Given the description of an element on the screen output the (x, y) to click on. 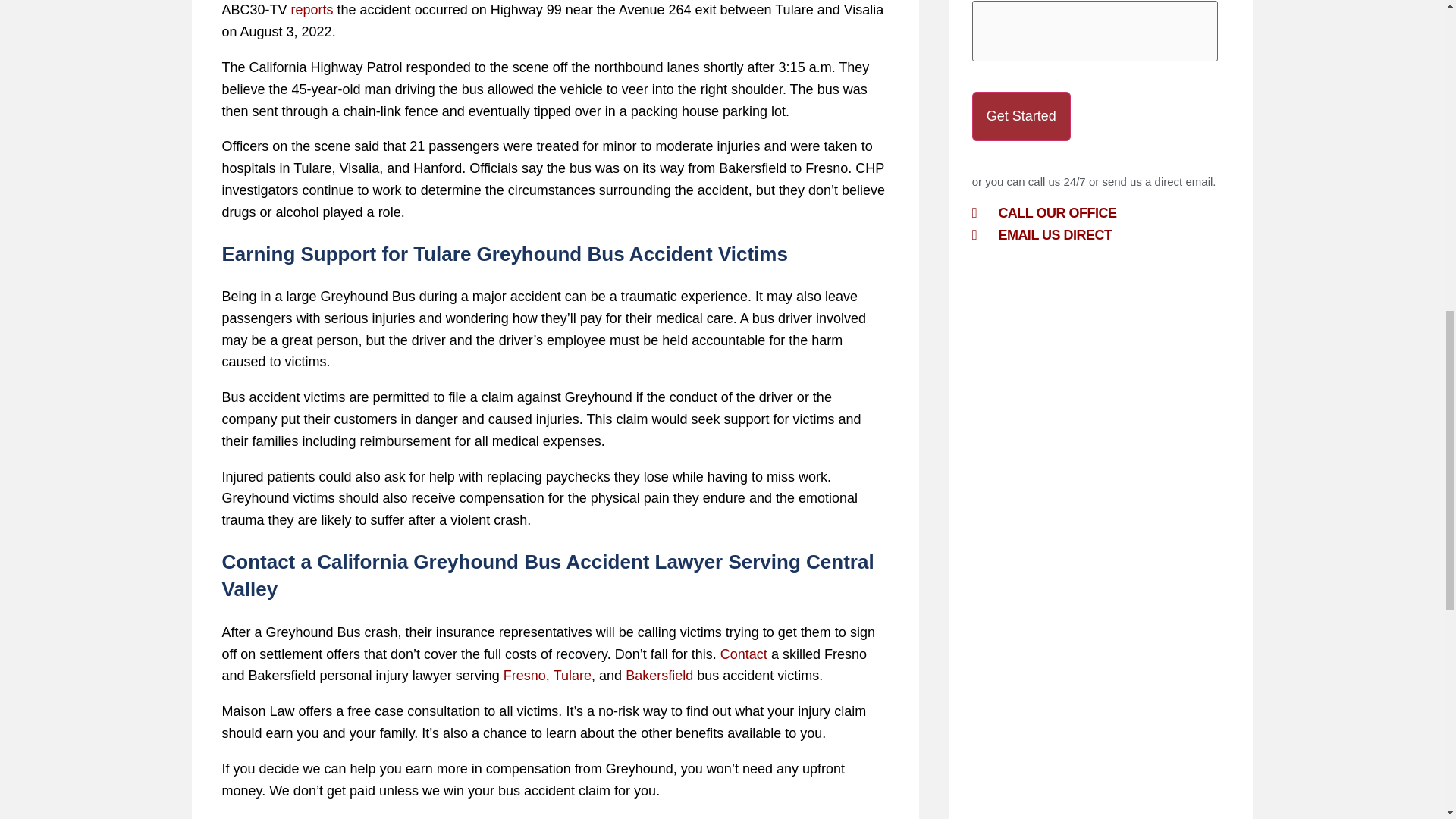
Get Started (1021, 115)
CALL OUR OFFICE (1101, 212)
EMAIL US DIRECT (1101, 234)
Tulare (572, 675)
Get Started (1021, 115)
reports (312, 9)
Bakersfield (659, 675)
Fresno (524, 675)
Contact (743, 654)
